Given the description of an element on the screen output the (x, y) to click on. 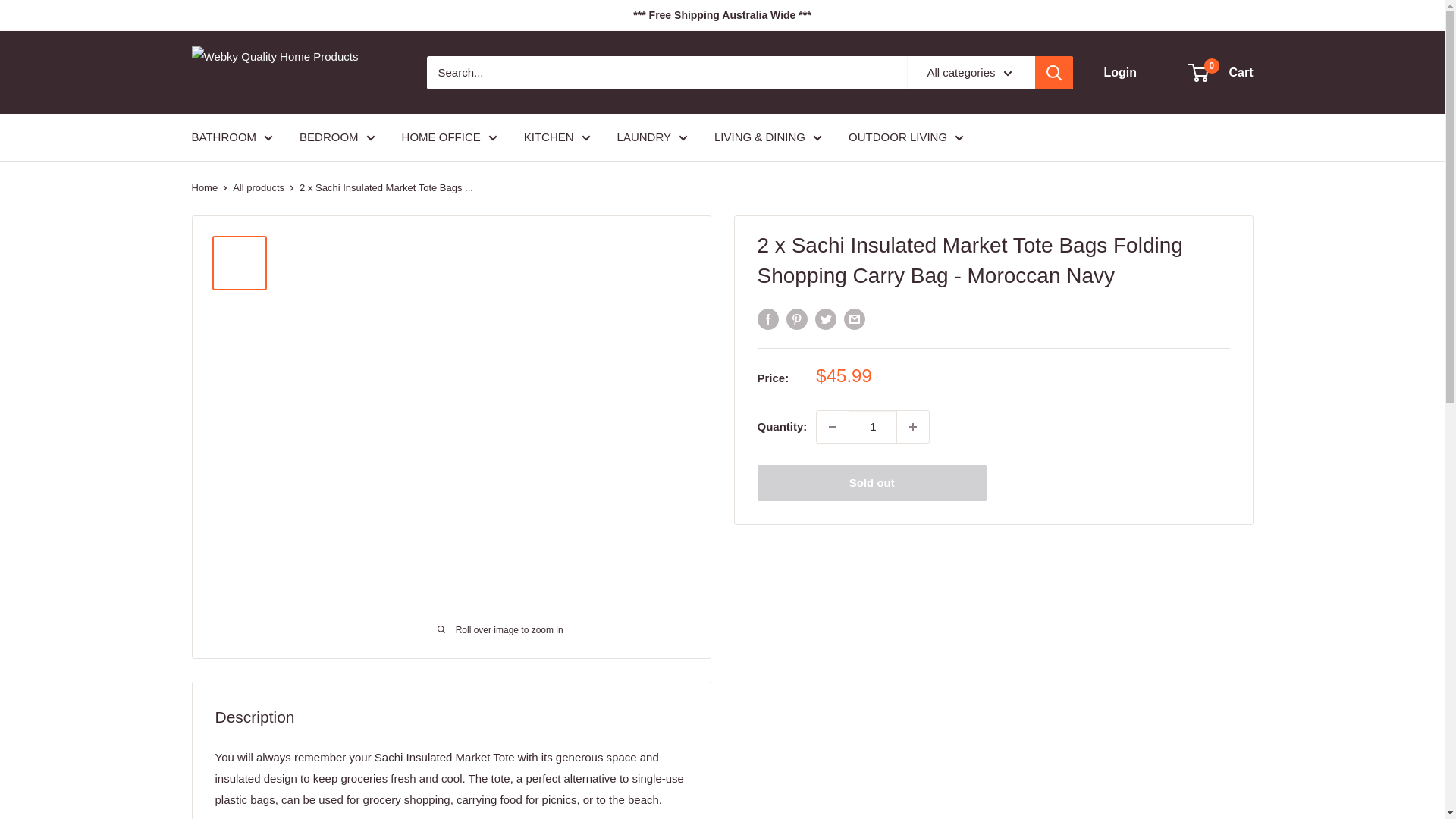
1 (872, 427)
Decrease quantity by 1 (832, 427)
Increase quantity by 1 (912, 427)
